Given the description of an element on the screen output the (x, y) to click on. 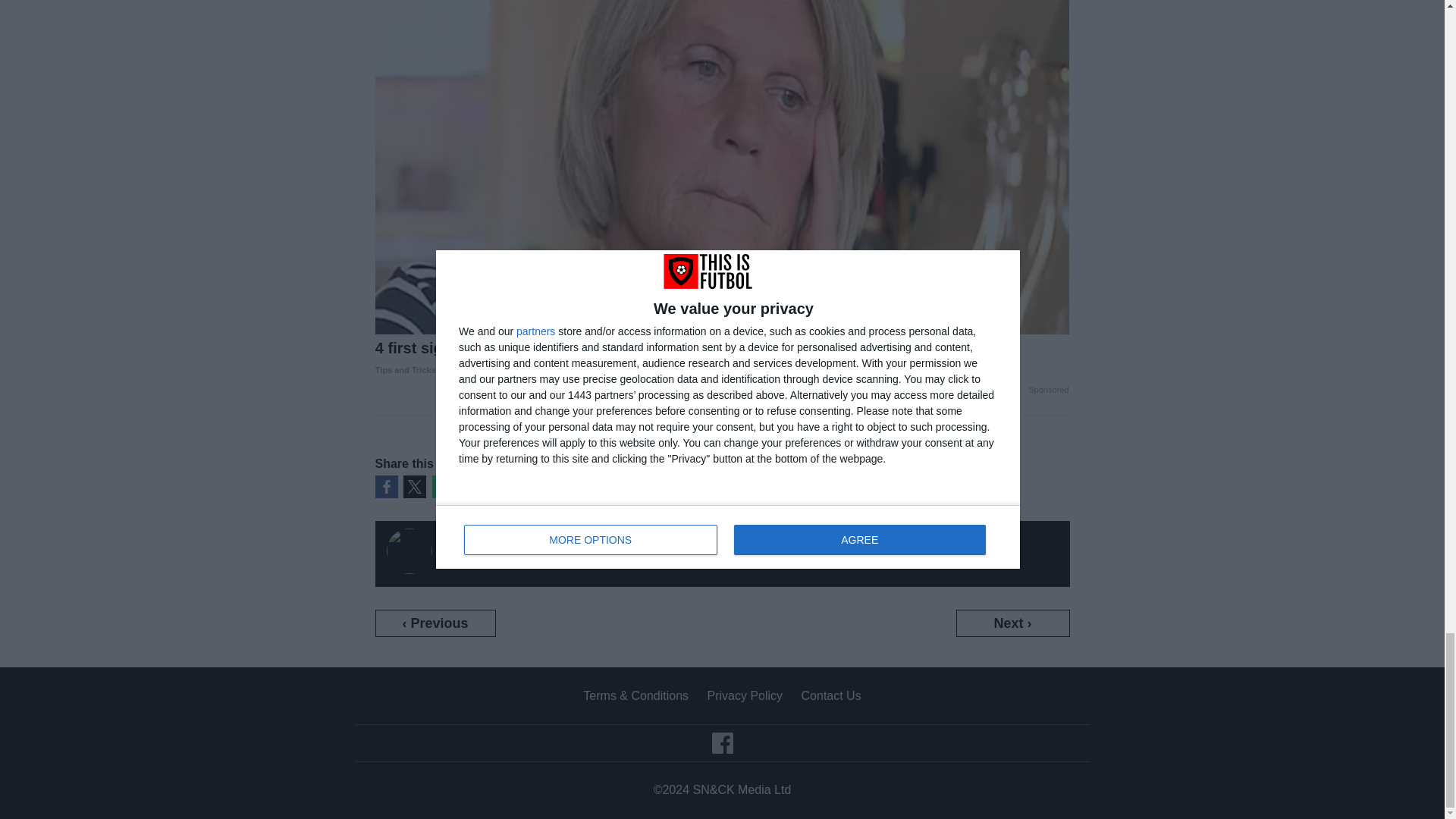
4 first signs of Alzheimer's (722, 359)
